Given the description of an element on the screen output the (x, y) to click on. 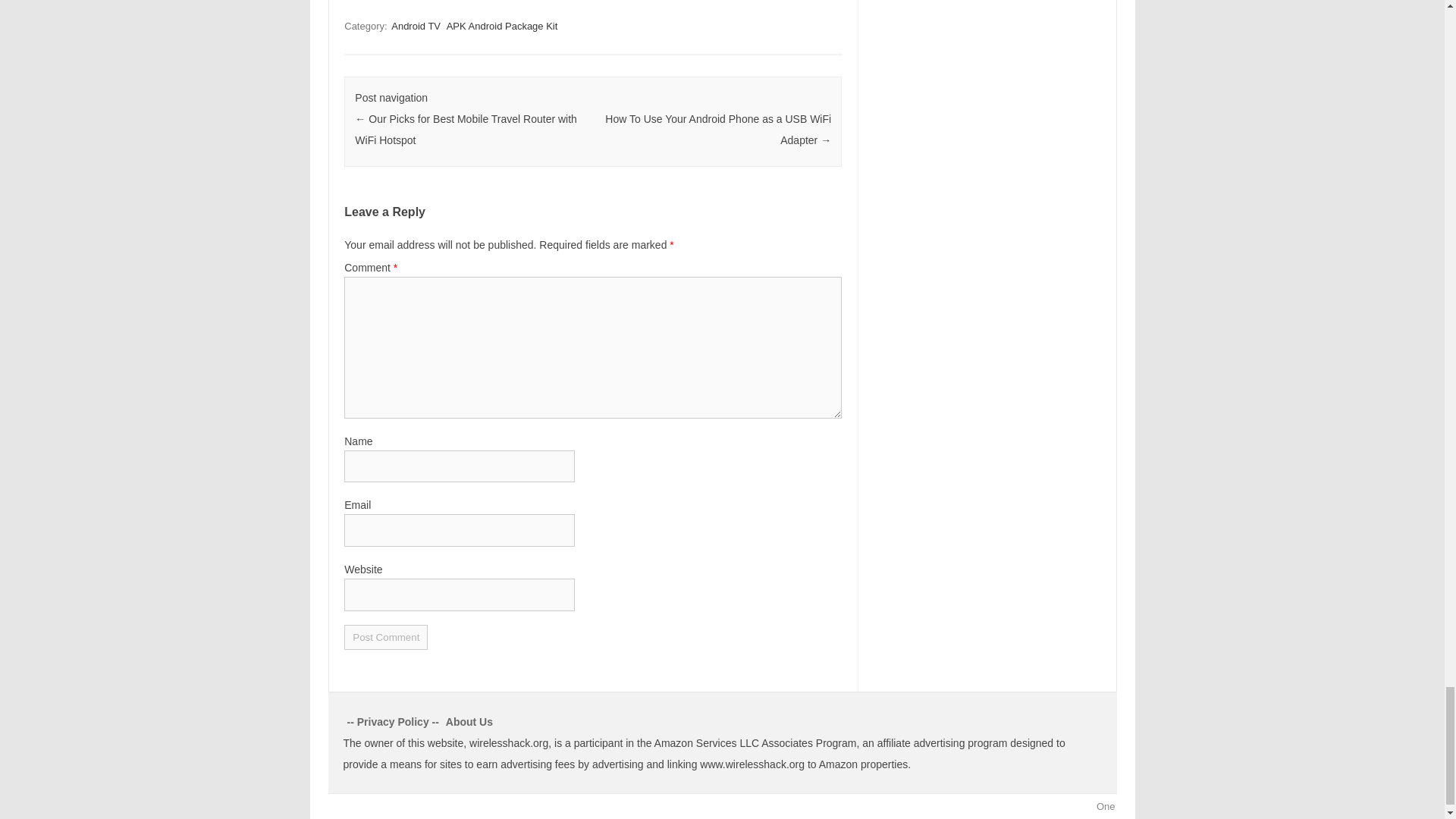
Post Comment (385, 637)
APK Android Package Kit (502, 25)
Post Comment (385, 637)
Android TV (416, 25)
